Given the description of an element on the screen output the (x, y) to click on. 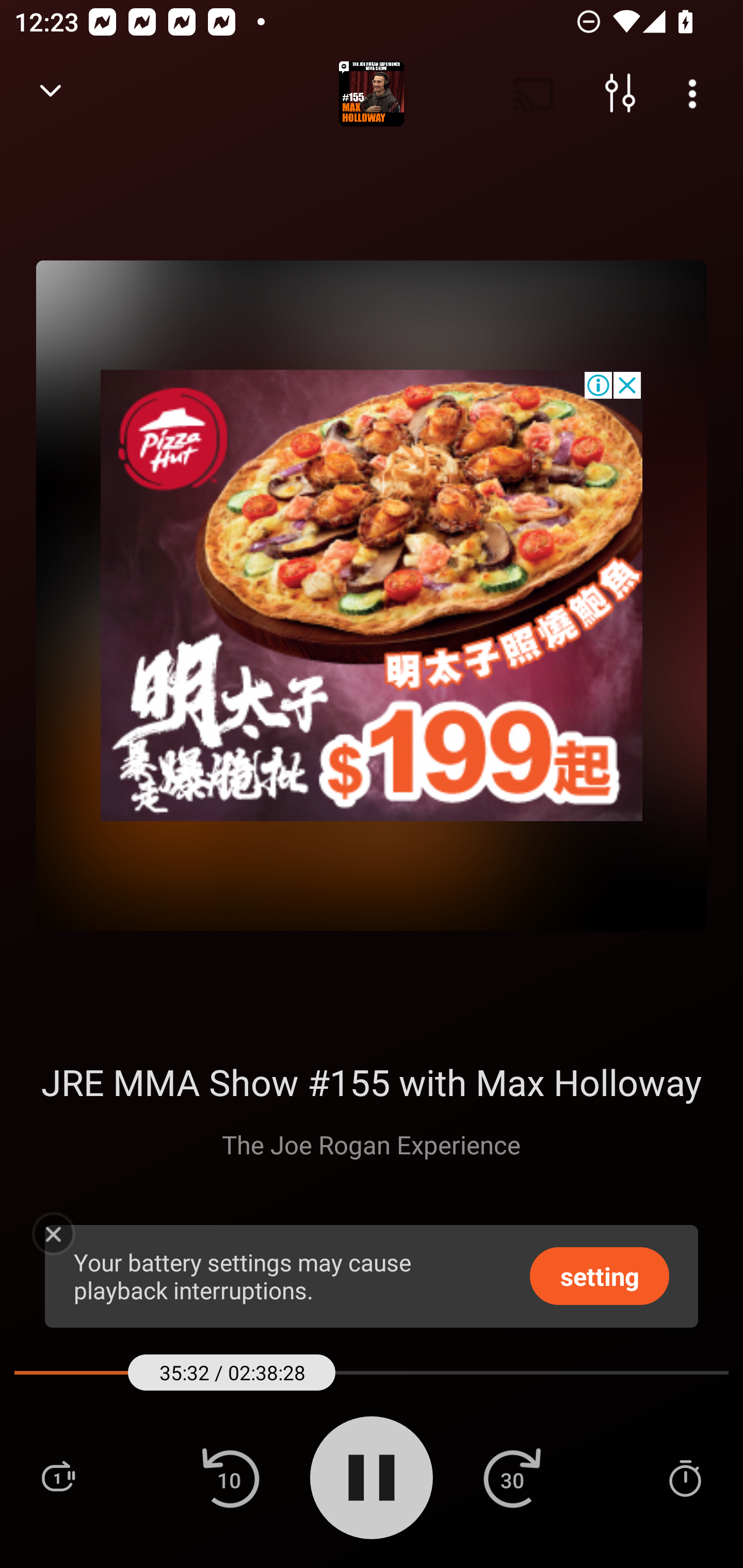
 Back (50, 94)
Advertisement (371, 595)
JRE MMA Show #155 with Max Holloway (370, 1081)
The Joe Rogan Experience (370, 1144)
setting (599, 1275)
 Playlist (57, 1477)
Sleep Timer  (684, 1477)
